Given the description of an element on the screen output the (x, y) to click on. 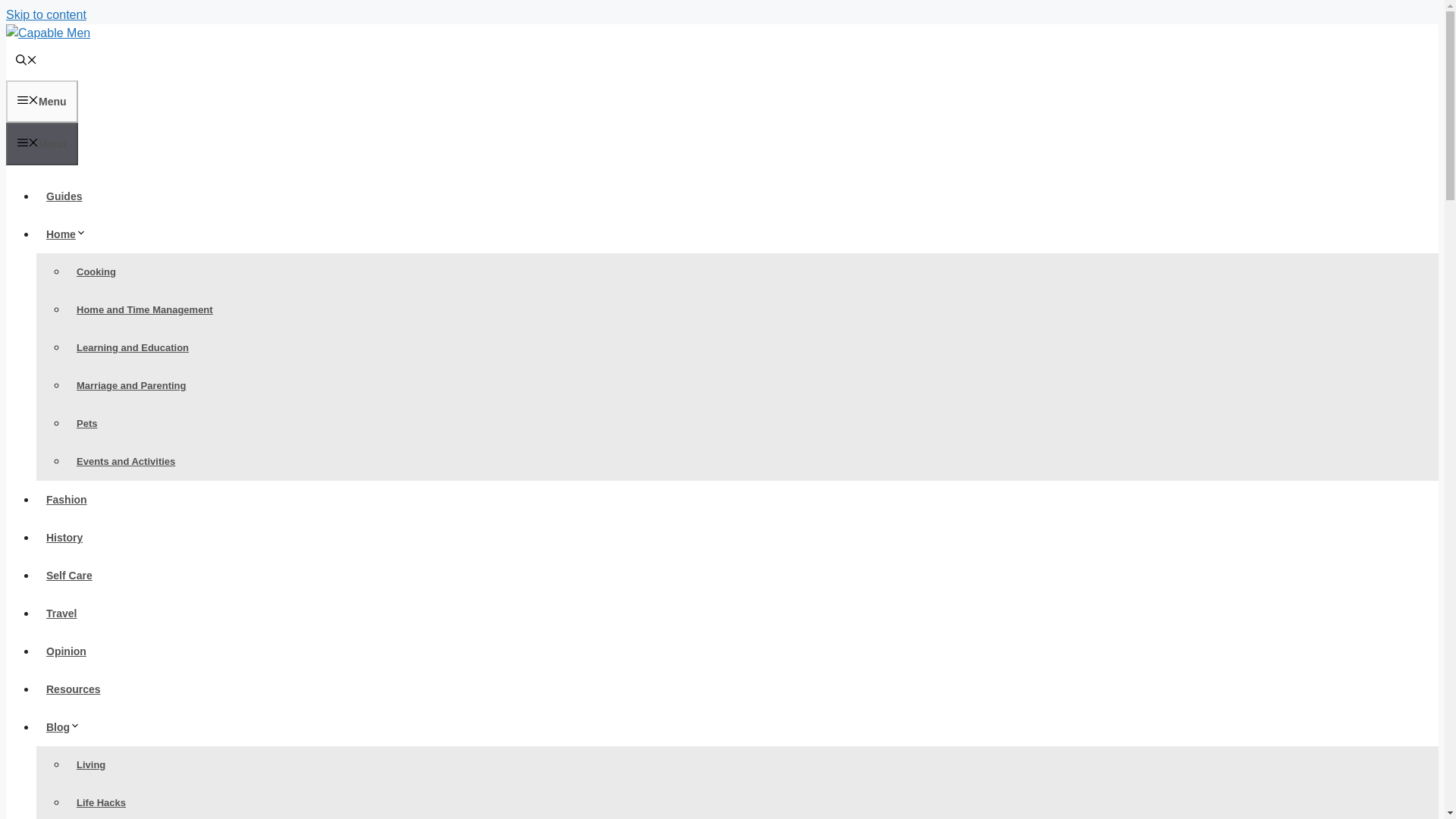
Travel (60, 613)
Cooking (95, 271)
Home (71, 234)
Self Care (68, 575)
Home and Time Management (144, 309)
Learning and Education (132, 347)
Pets (86, 423)
Skip to content (45, 14)
Opinion (66, 651)
History (64, 537)
Menu (41, 101)
Life Hacks (100, 802)
Menu (41, 143)
Blog (68, 727)
Events and Activities (125, 461)
